Given the description of an element on the screen output the (x, y) to click on. 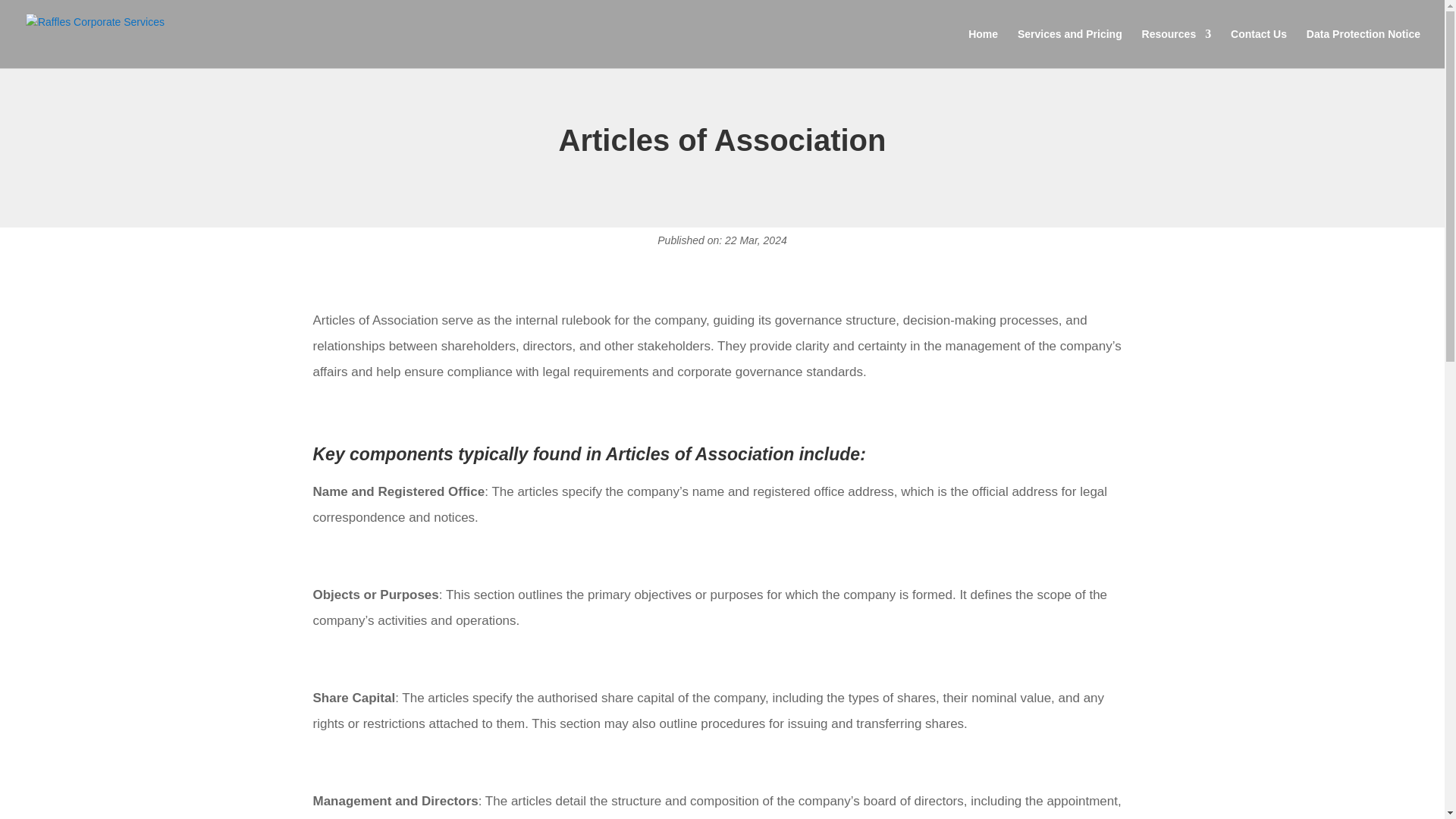
Services and Pricing (1069, 47)
Contact Us (1258, 47)
Resources (1176, 47)
Data Protection Notice (1363, 47)
